Given the description of an element on the screen output the (x, y) to click on. 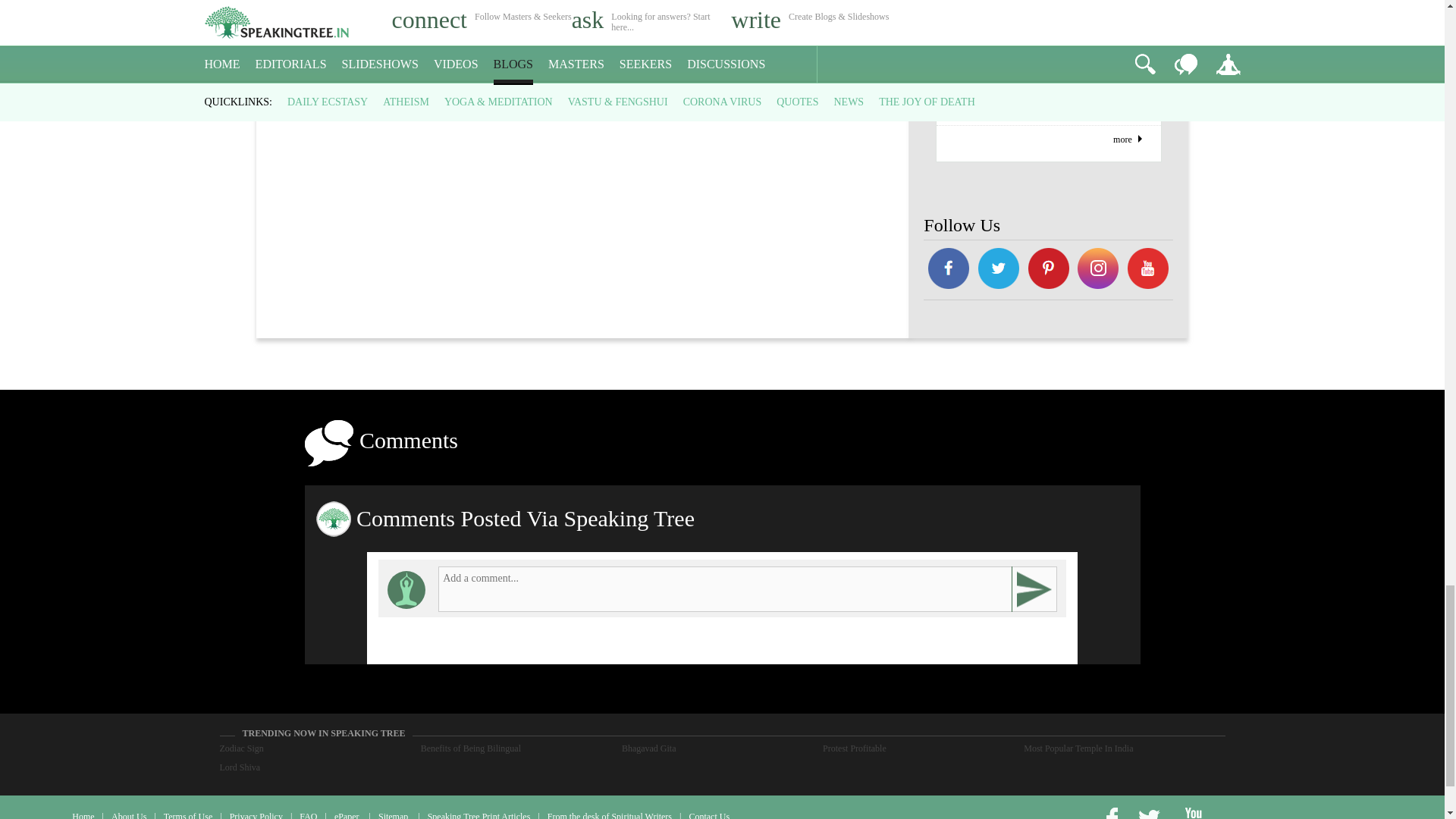
Speaking Tree FaceBook (1048, 270)
Speaking Tree FaceBook (1147, 270)
Speaking Tree FaceBook (998, 270)
Speaking Tree FaceBook (948, 270)
Speaking Tree FaceBook (1099, 270)
